Given the description of an element on the screen output the (x, y) to click on. 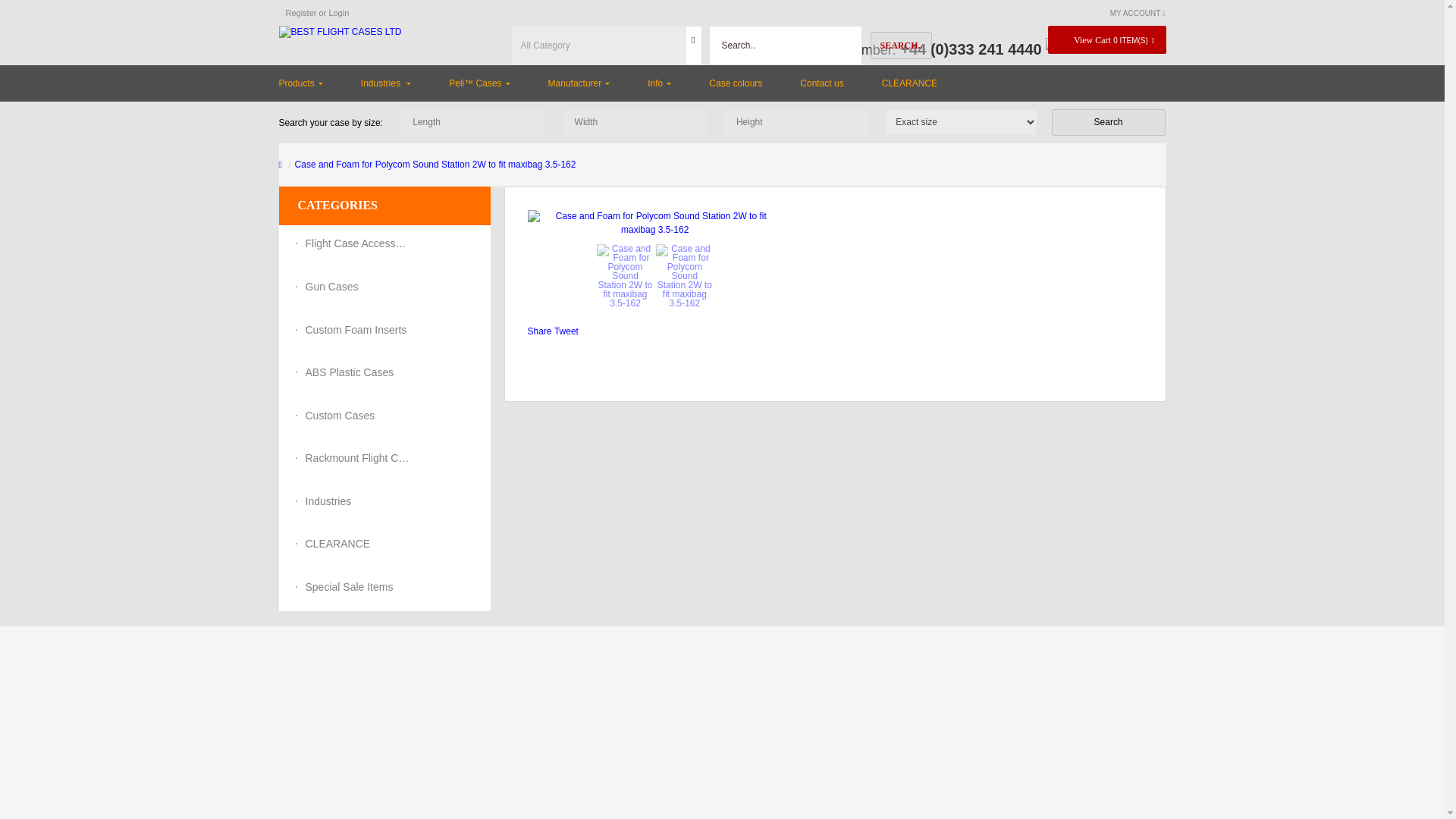
Search (1108, 121)
Products (310, 83)
BEST FLIGHT CASES LTD (340, 31)
SEARCH.. (900, 44)
Login (339, 12)
Register (300, 12)
